Given the description of an element on the screen output the (x, y) to click on. 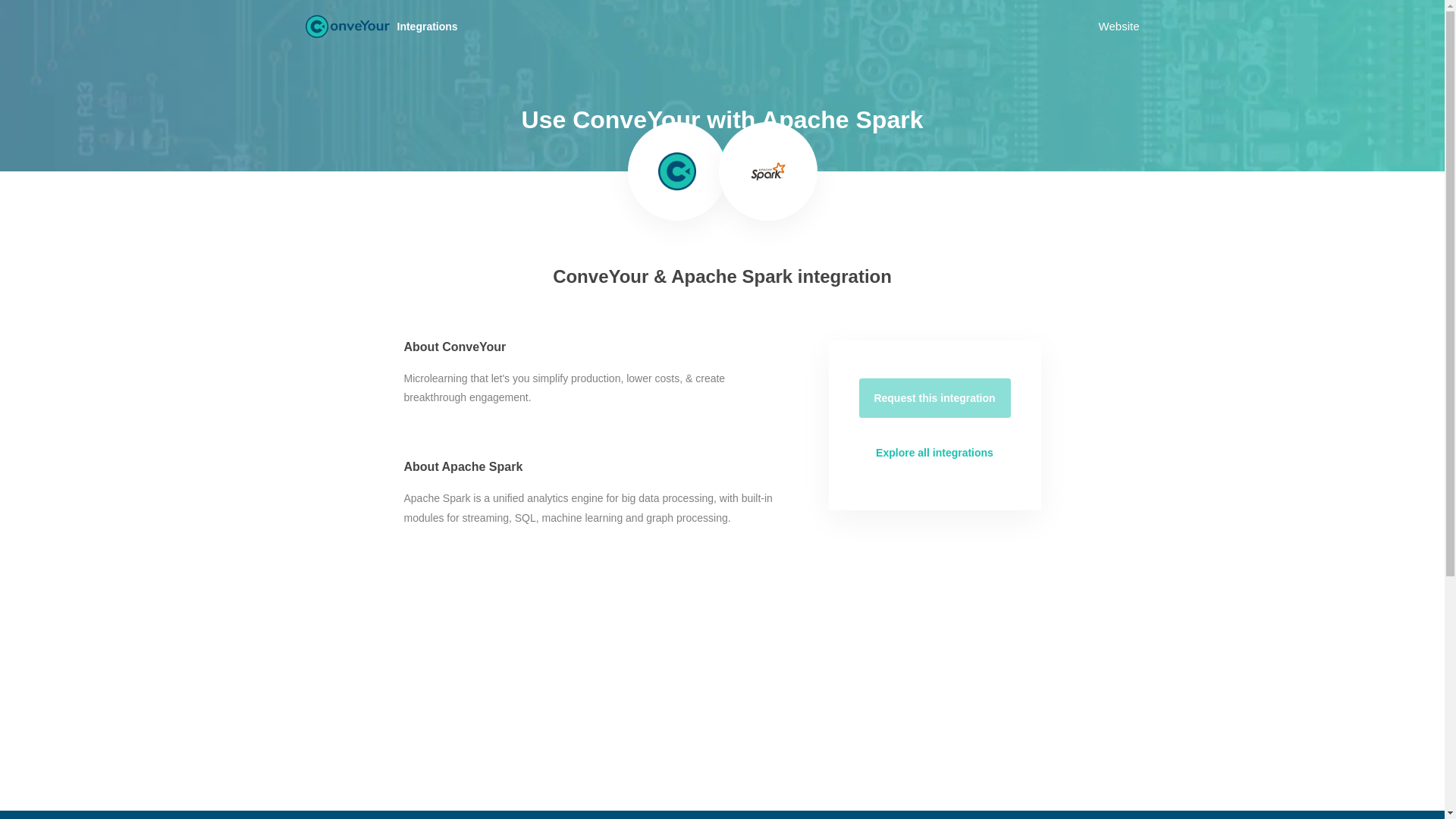
Apache Spark (768, 171)
Request this integration (934, 397)
Integrations (433, 26)
ConveYour (346, 26)
Explore all integrations (934, 452)
Website (1119, 25)
ConveYour (676, 171)
